Given the description of an element on the screen output the (x, y) to click on. 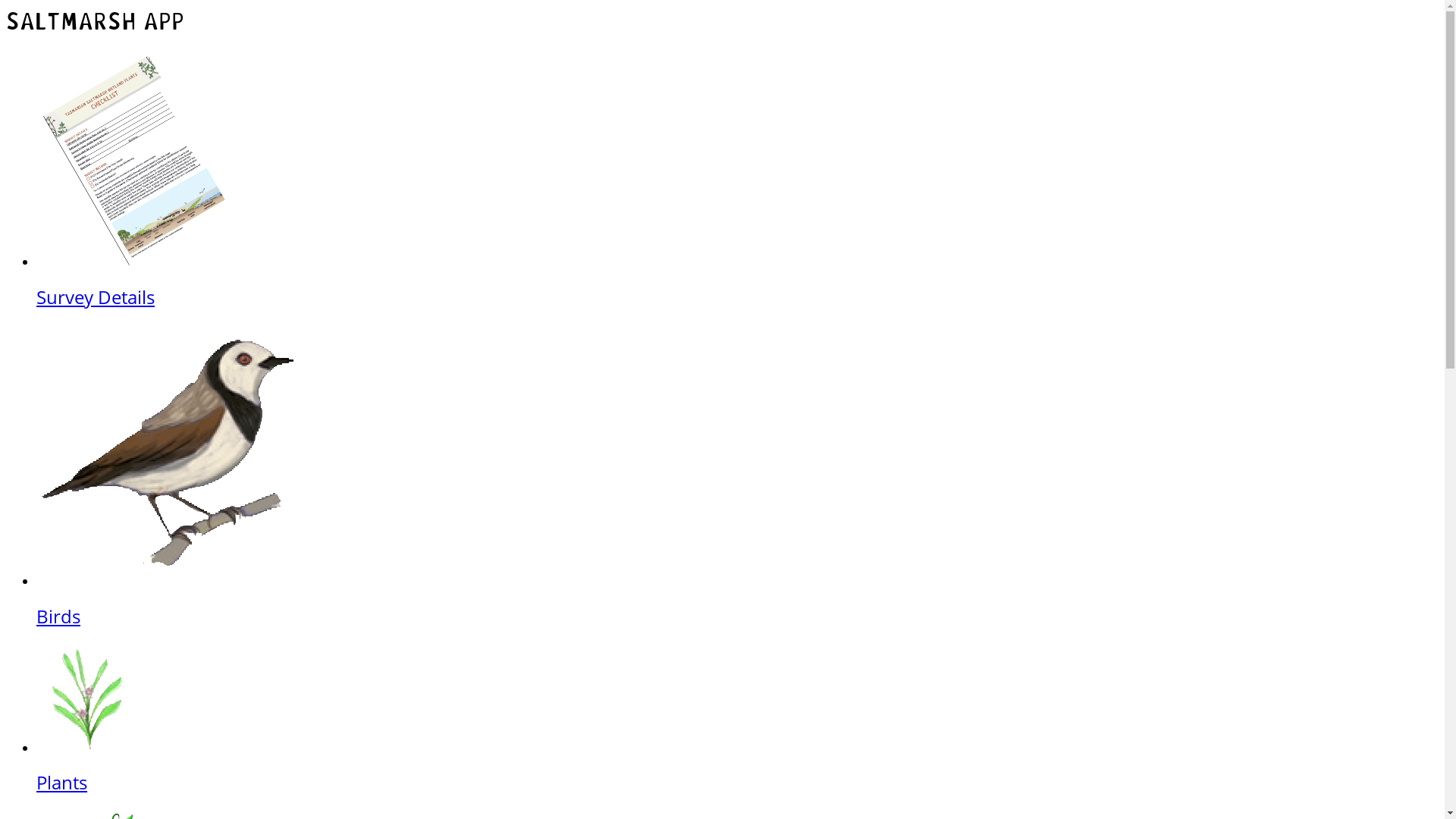
Plants Element type: text (737, 766)
Survey Details Element type: text (737, 280)
Birds Element type: text (737, 599)
